Given the description of an element on the screen output the (x, y) to click on. 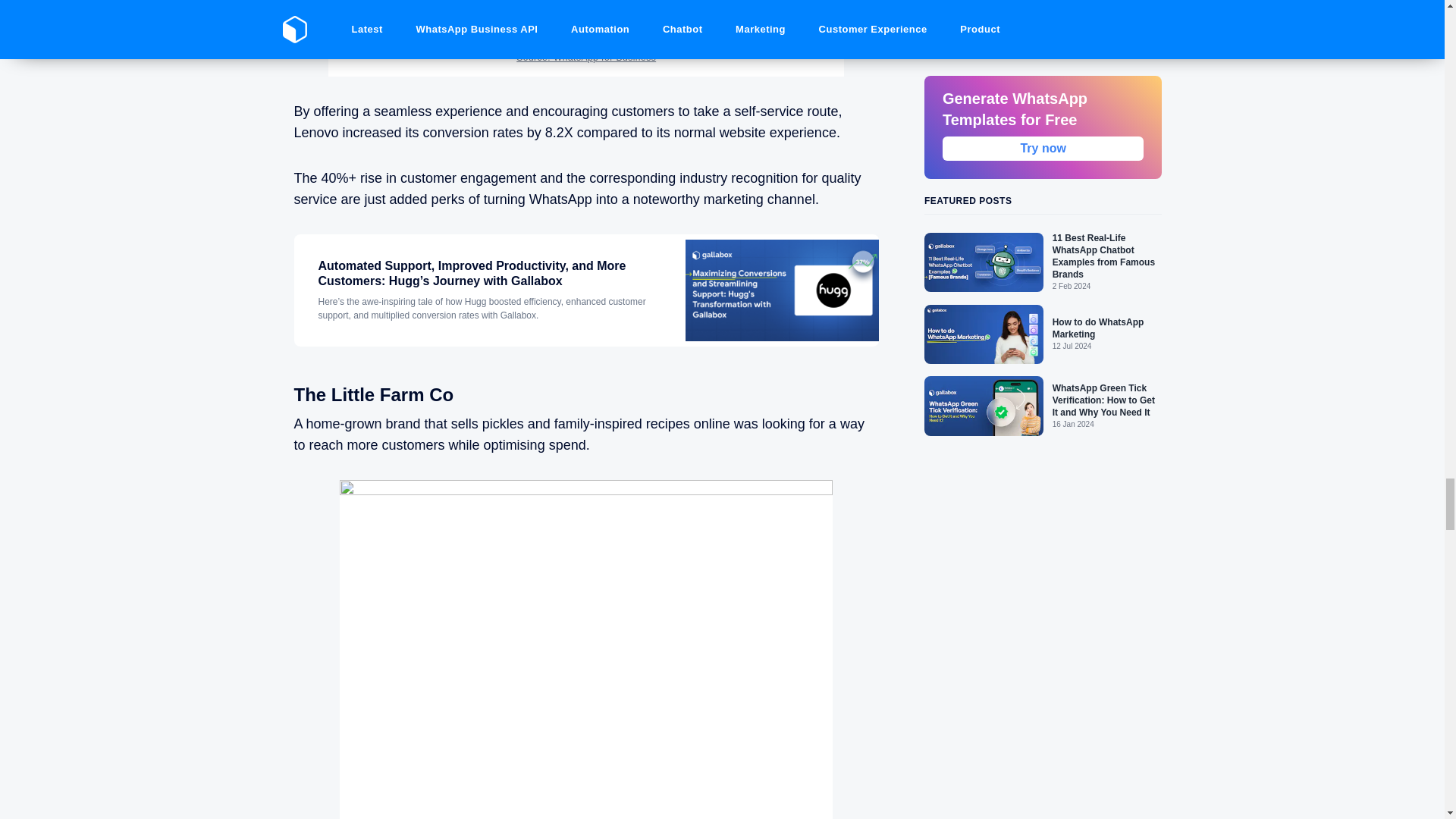
Source: WhatsApp for Business (586, 57)
